Given the description of an element on the screen output the (x, y) to click on. 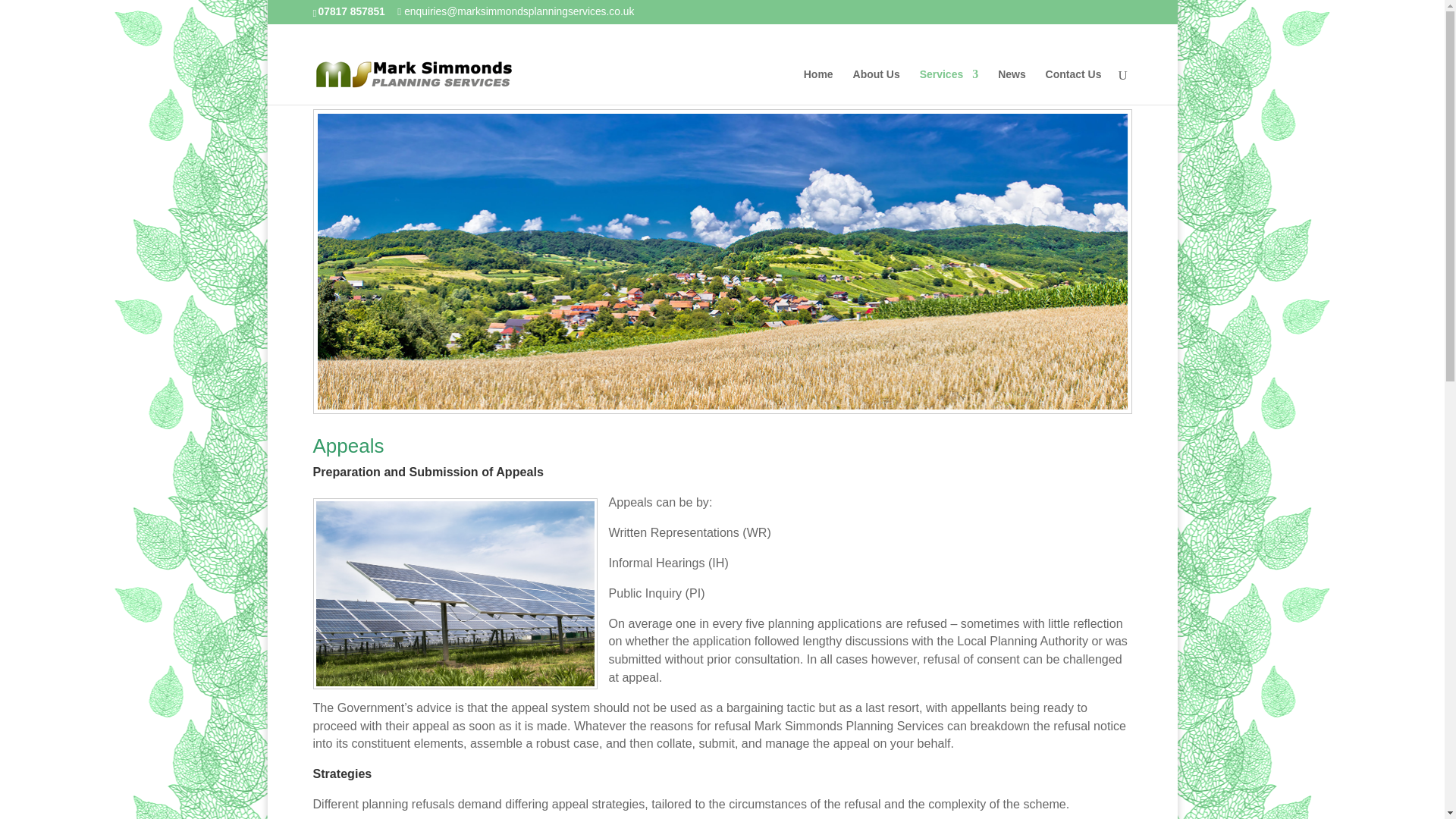
Contact Us (1073, 86)
Home (817, 86)
Services (949, 86)
News (1011, 86)
About Us (876, 86)
